Given the description of an element on the screen output the (x, y) to click on. 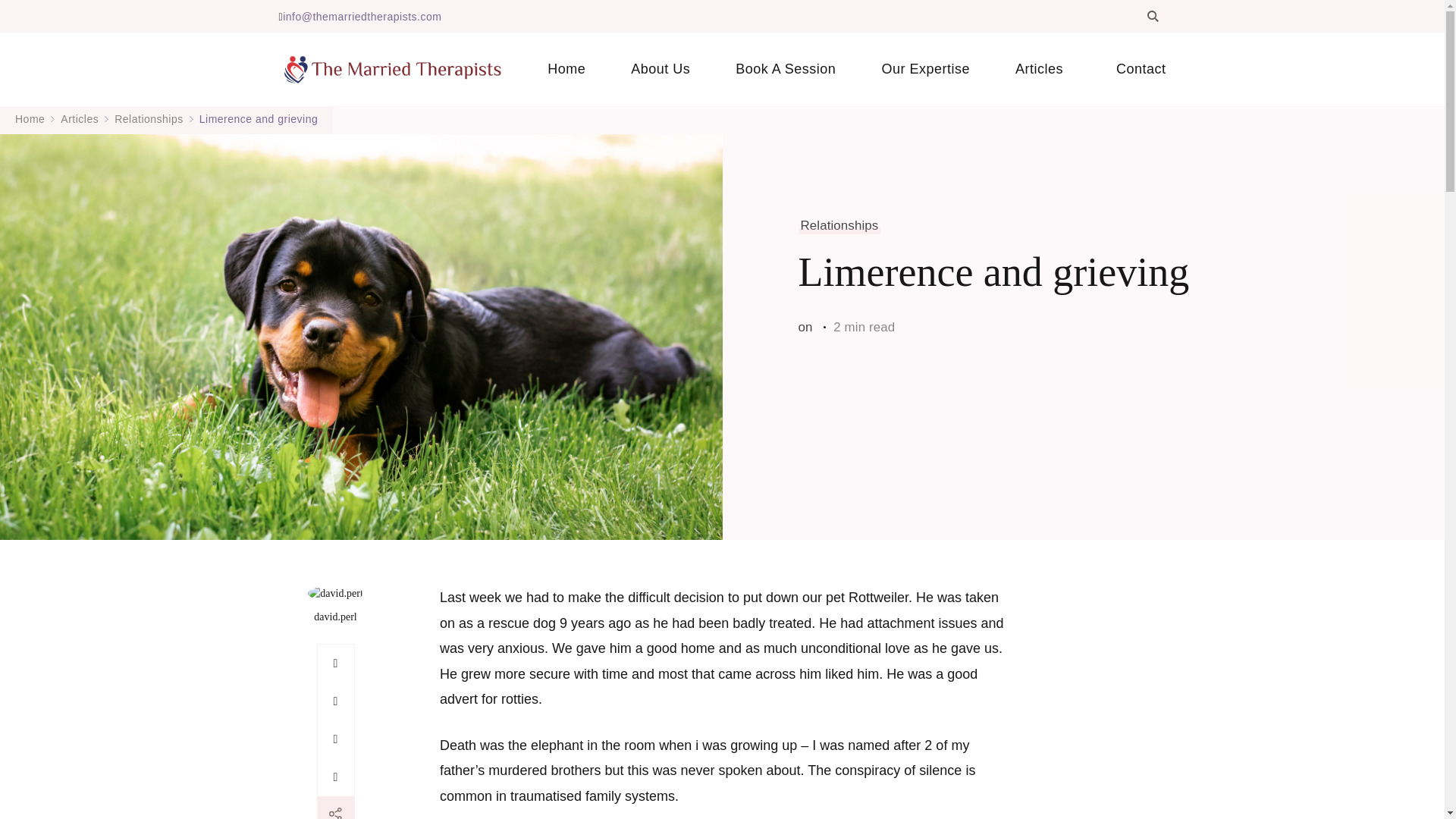
Our Expertise (925, 69)
Contact (1129, 69)
About Us (660, 69)
Book A Session (786, 69)
Articles (1042, 69)
Home (566, 69)
